Given the description of an element on the screen output the (x, y) to click on. 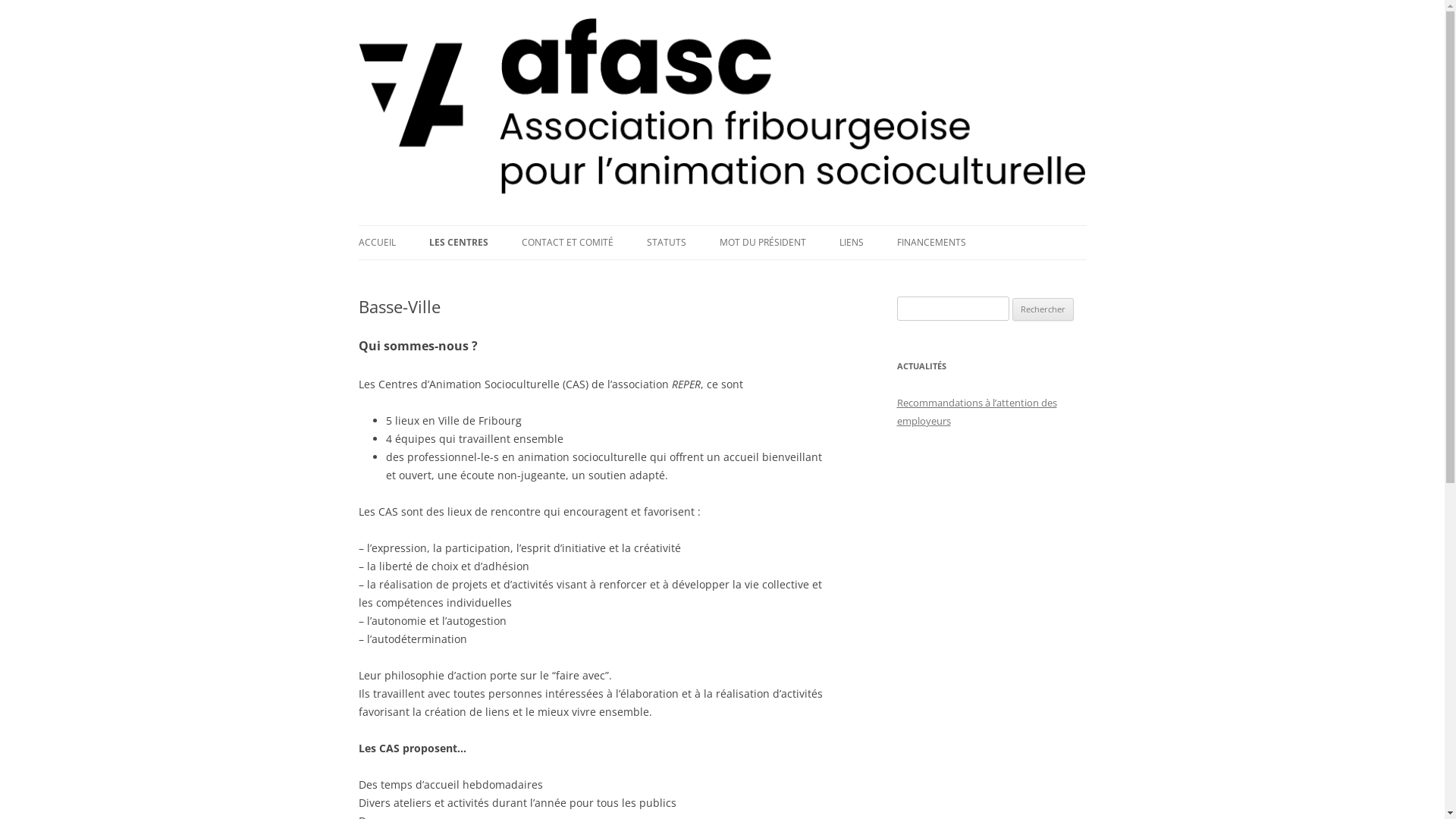
LES CENTRES Element type: text (458, 242)
Rechercher Element type: text (1042, 309)
ACCUEIL Element type: text (376, 242)
BASSE-VILLE Element type: text (504, 274)
FINANCEMENTS Element type: text (930, 242)
AFASC Element type: text (388, 225)
Aller au contenu principal Element type: text (721, 225)
STATUTS Element type: text (665, 242)
LIENS Element type: text (850, 242)
